Given the description of an element on the screen output the (x, y) to click on. 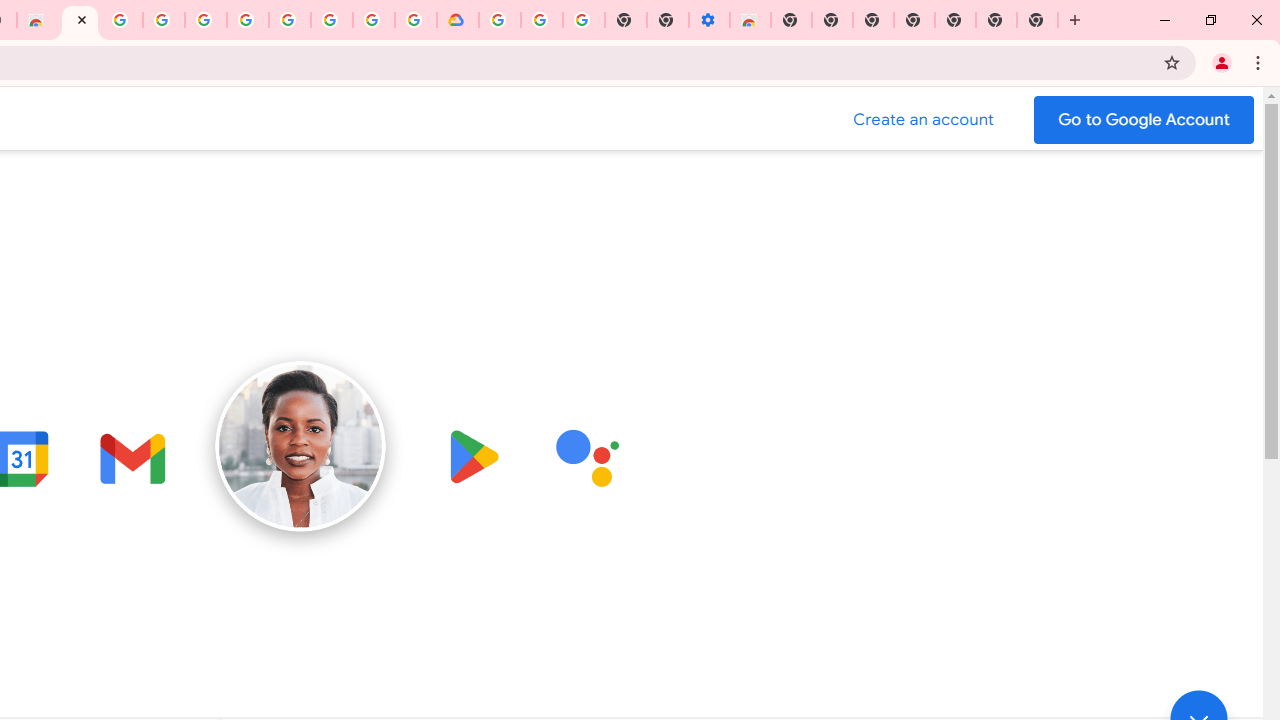
Google Account Help (247, 20)
Settings - Accessibility (708, 20)
Chrome Web Store - Accessibility extensions (749, 20)
Sign in - Google Accounts (499, 20)
Google Account Help (542, 20)
Go to your Google Account (1144, 119)
